Given the description of an element on the screen output the (x, y) to click on. 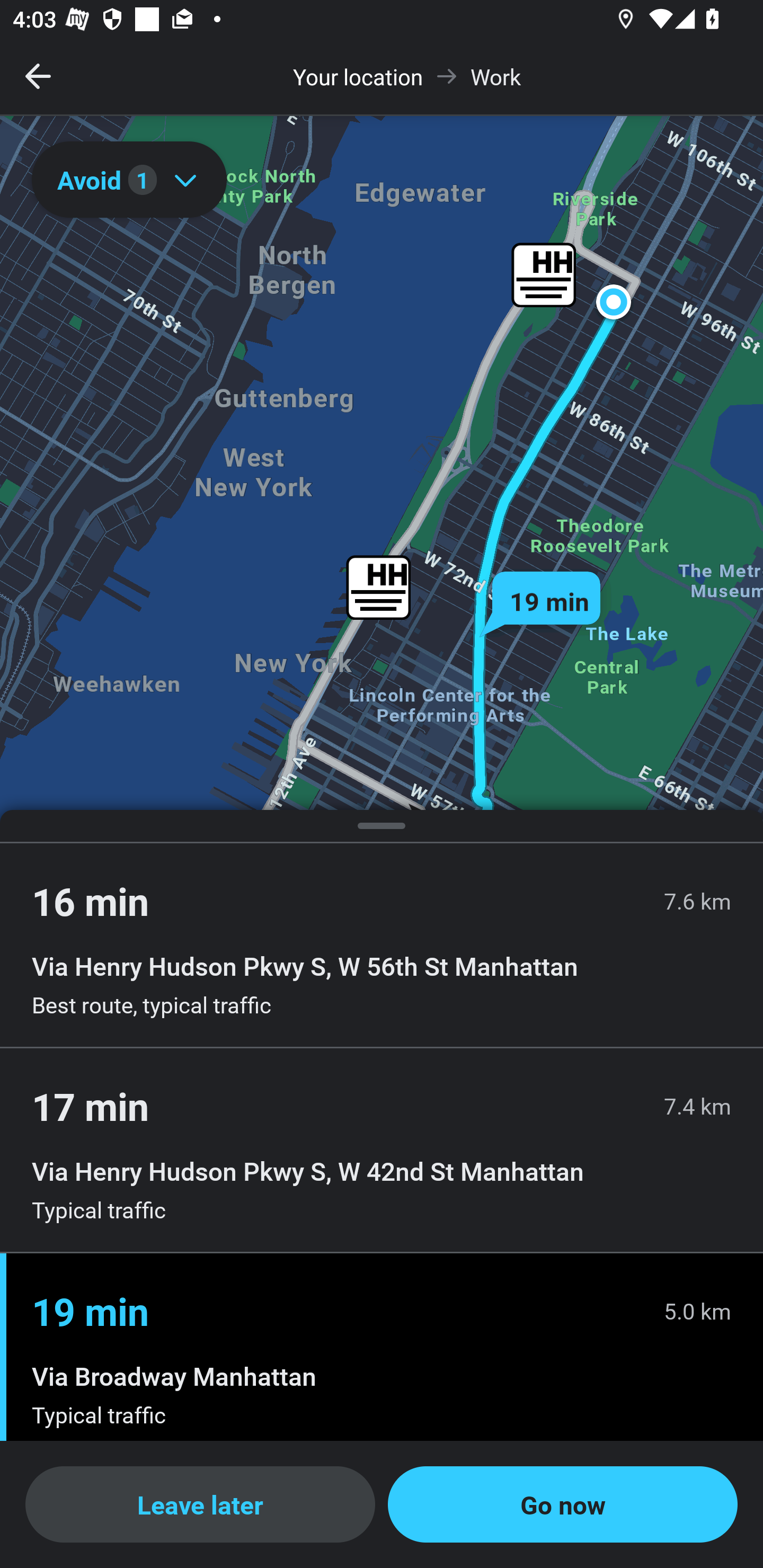
Leave later (200, 1504)
Go now (562, 1504)
